Given the description of an element on the screen output the (x, y) to click on. 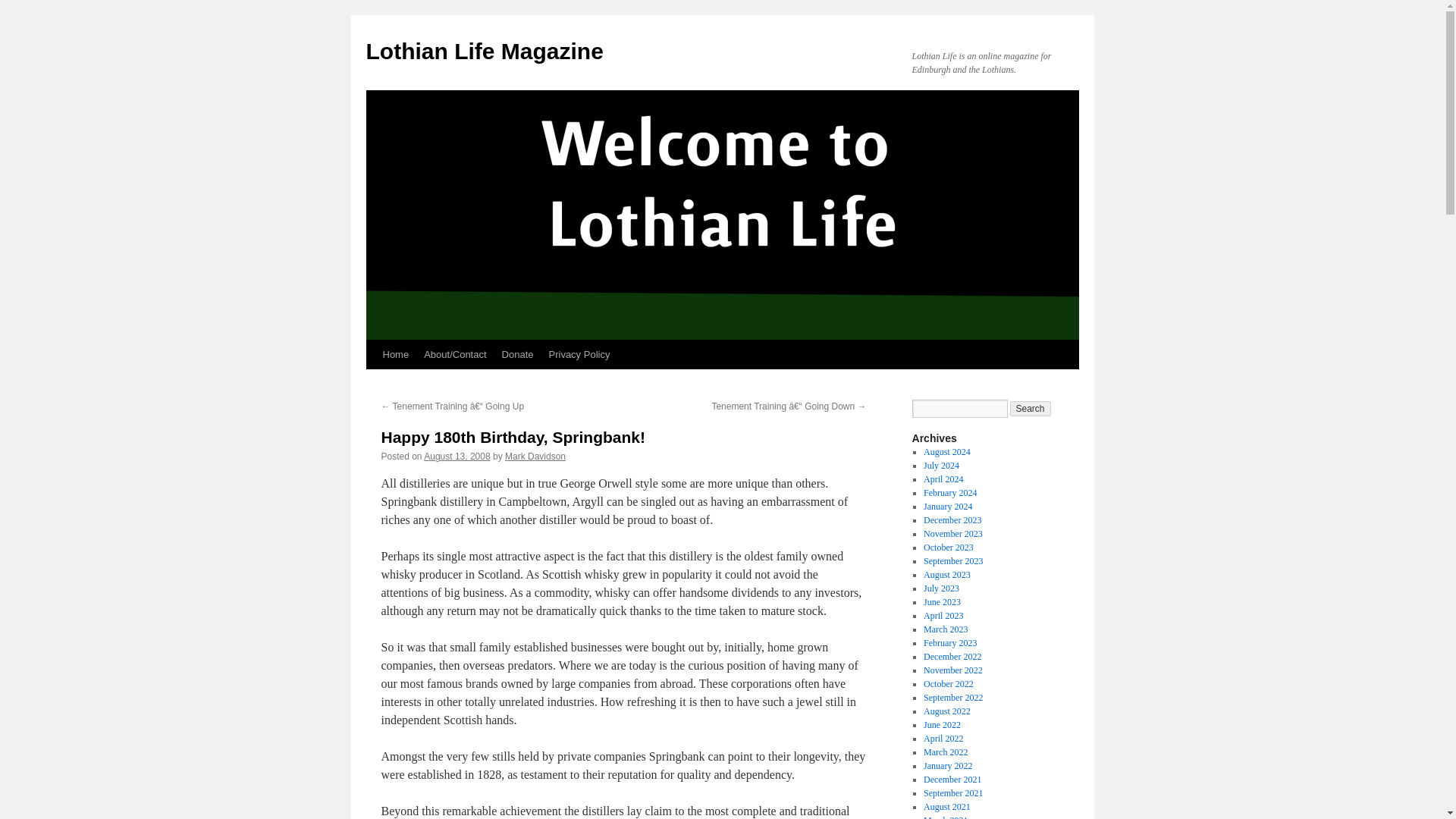
Mark Davidson (535, 456)
February 2024 (949, 492)
December 2023 (952, 520)
June 2022 (941, 724)
November 2022 (952, 670)
Donate (518, 354)
June 2023 (941, 602)
August 2022 (947, 710)
March 2022 (945, 751)
April 2022 (942, 738)
